Given the description of an element on the screen output the (x, y) to click on. 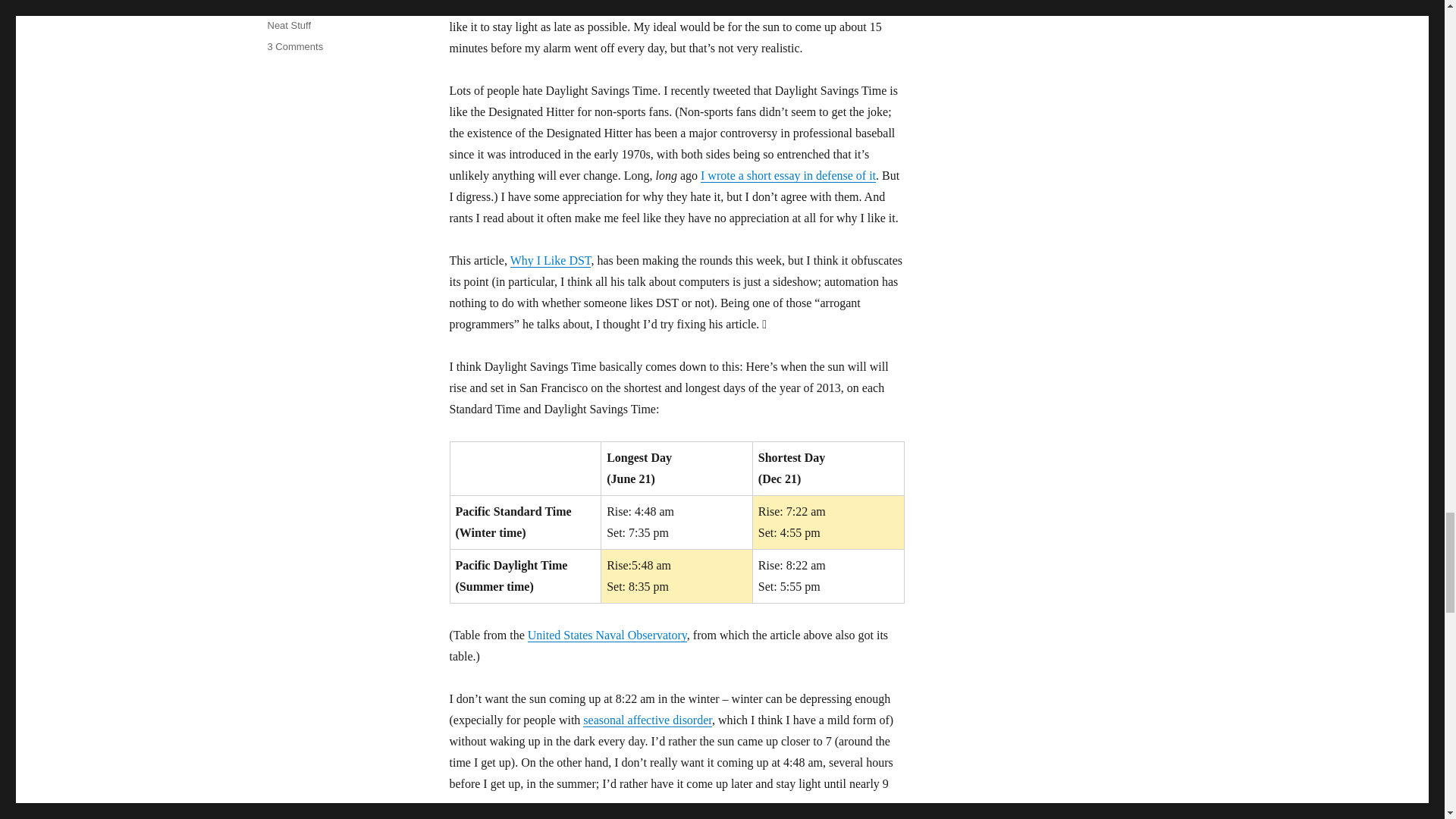
Why I Like DST (551, 259)
12 March 2013 (299, 4)
Neat Stuff (288, 25)
seasonal affective disorder (647, 719)
United States Naval Observatory (607, 634)
I wrote a short essay in defense of it (294, 46)
